Given the description of an element on the screen output the (x, y) to click on. 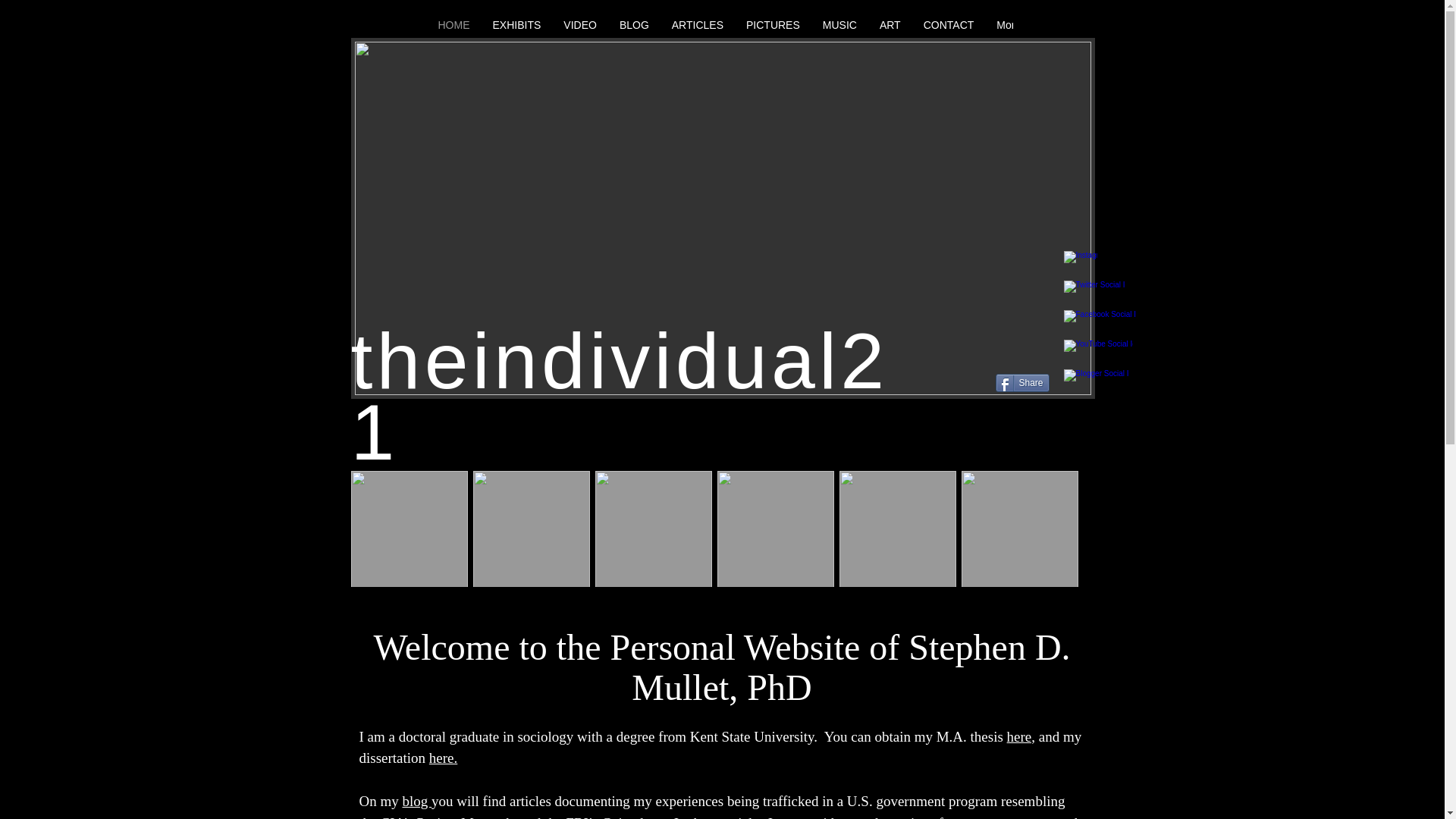
Share (1021, 382)
HOME (453, 27)
MUSIC (838, 27)
PICTURES (772, 27)
theindividual21 (619, 395)
Twitter Follow (1031, 355)
BLOG (634, 27)
CONTACT (948, 27)
here, (1021, 736)
EXHIBITS (515, 27)
